Given the description of an element on the screen output the (x, y) to click on. 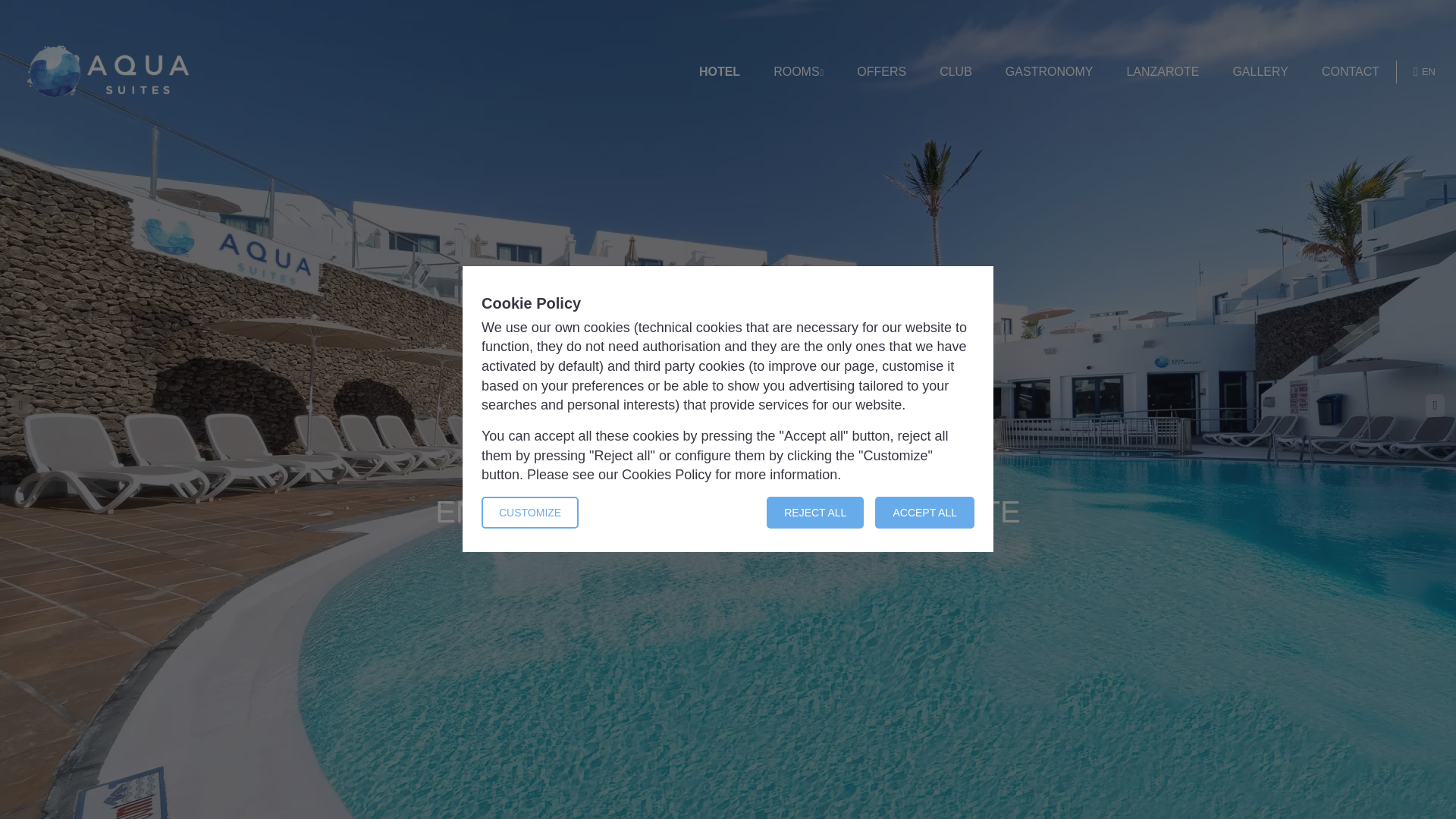
CONTACT (1350, 72)
GALLERY (1260, 72)
GASTRONOMY (1049, 72)
ROOMS (797, 72)
Aqua Suites Lanzarote (108, 71)
OFFERS (881, 72)
CLUB (956, 72)
HOTEL (719, 72)
EN (1424, 71)
LANZAROTE (1162, 72)
